Given the description of an element on the screen output the (x, y) to click on. 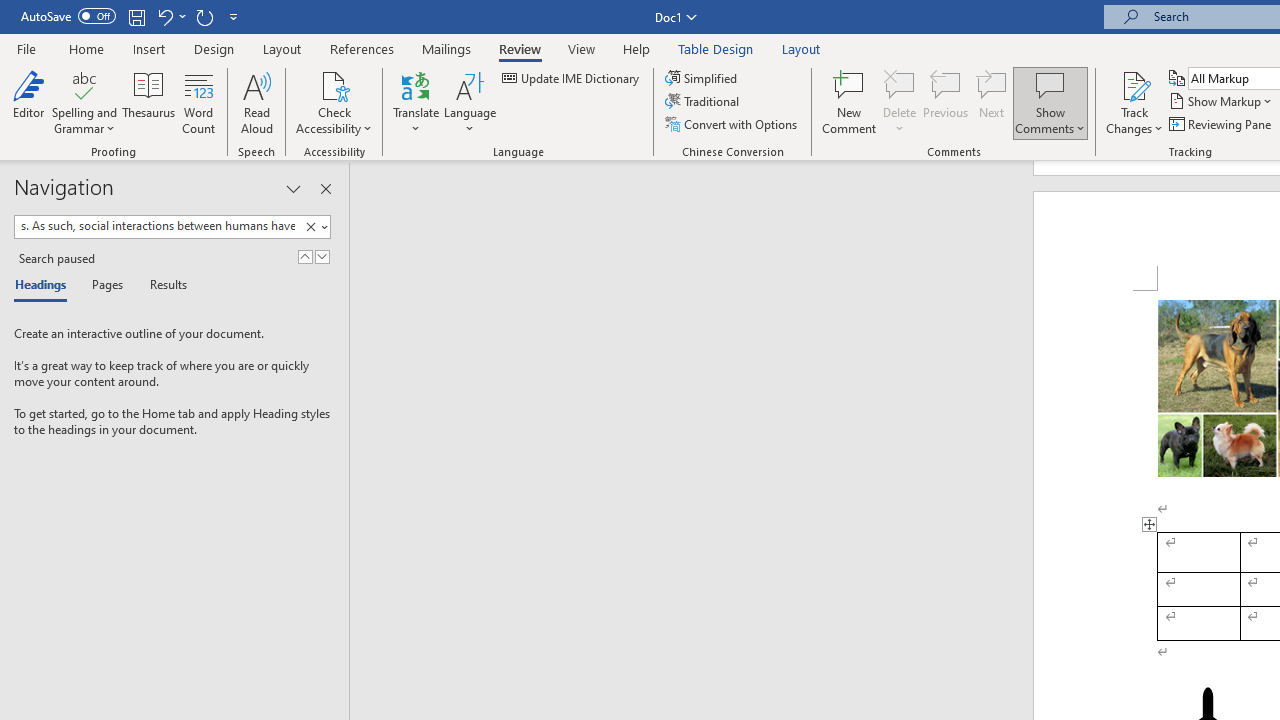
Customize Quick Access Toolbar (234, 15)
Close pane (325, 188)
Quick Access Toolbar (131, 16)
Spelling and Grammar (84, 102)
Show Markup (1222, 101)
Design (214, 48)
Headings (45, 285)
Check Accessibility (334, 84)
Check Accessibility (334, 102)
AutoSave (68, 16)
New Comment (849, 102)
Thesaurus... (148, 102)
Read Aloud (256, 102)
